Given the description of an element on the screen output the (x, y) to click on. 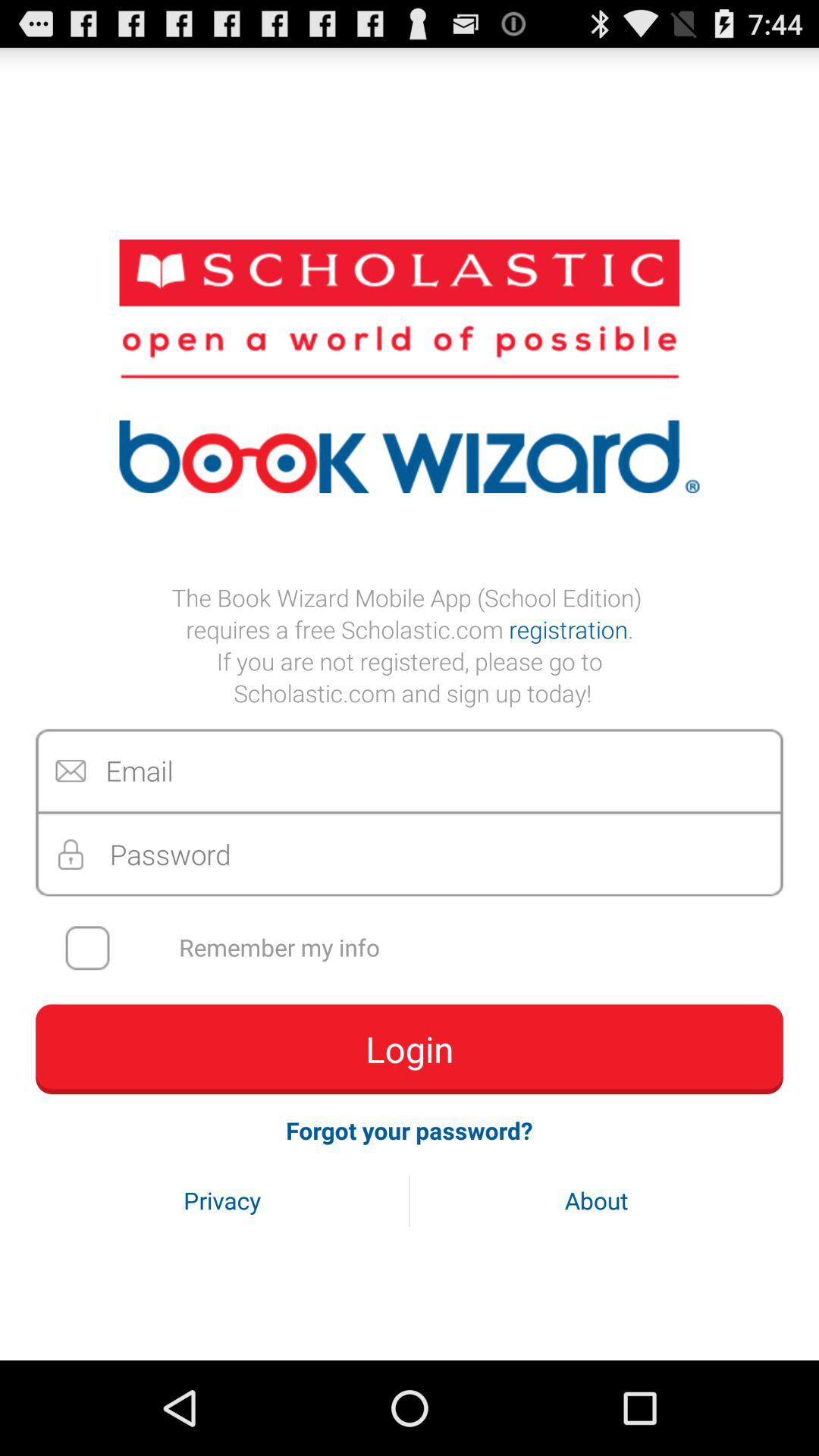
press icon below forgot your password? icon (596, 1200)
